Given the description of an element on the screen output the (x, y) to click on. 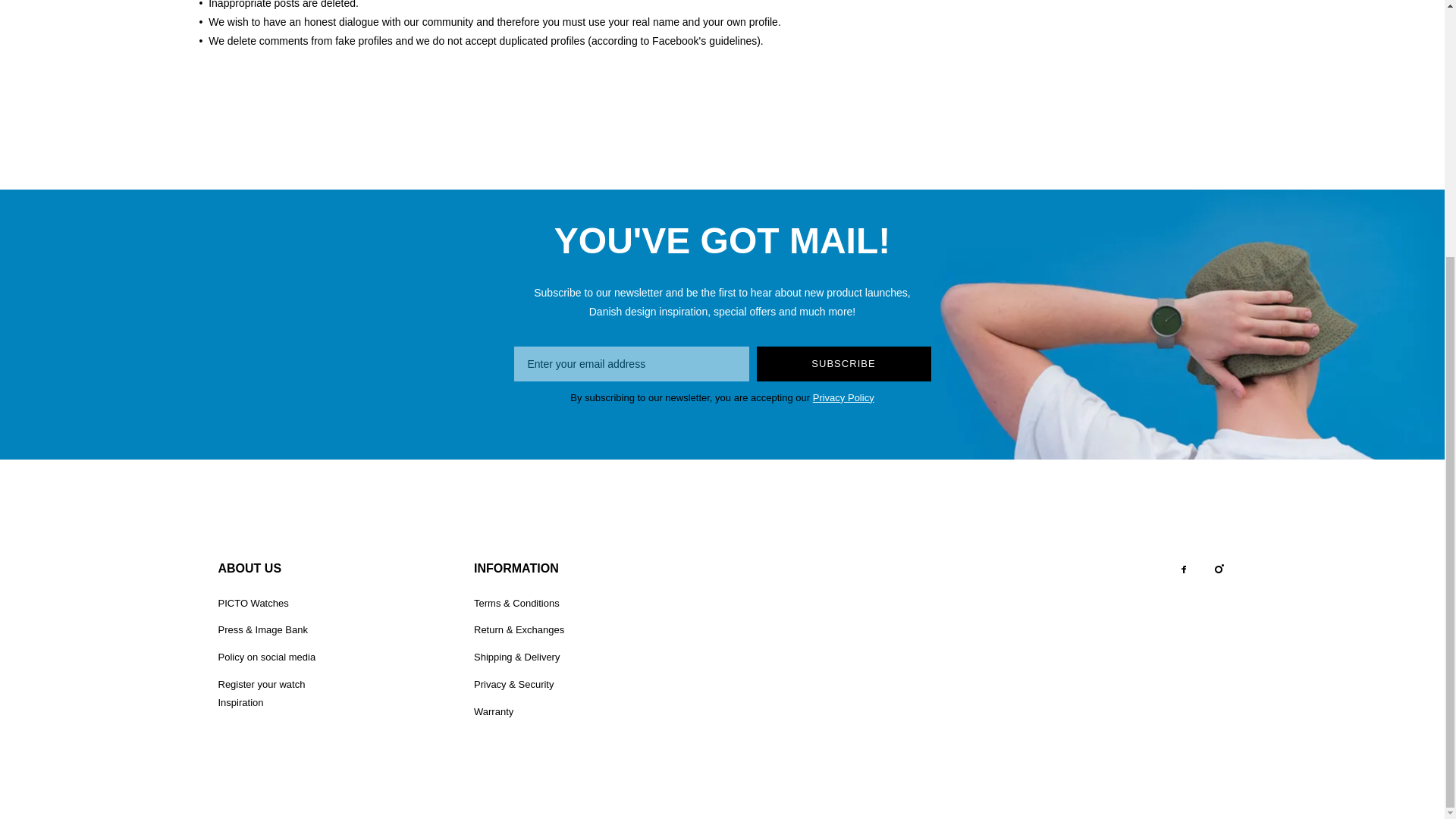
Privacy Policy (843, 397)
SUBSCRIBE (844, 363)
Subscribe (844, 363)
